Given the description of an element on the screen output the (x, y) to click on. 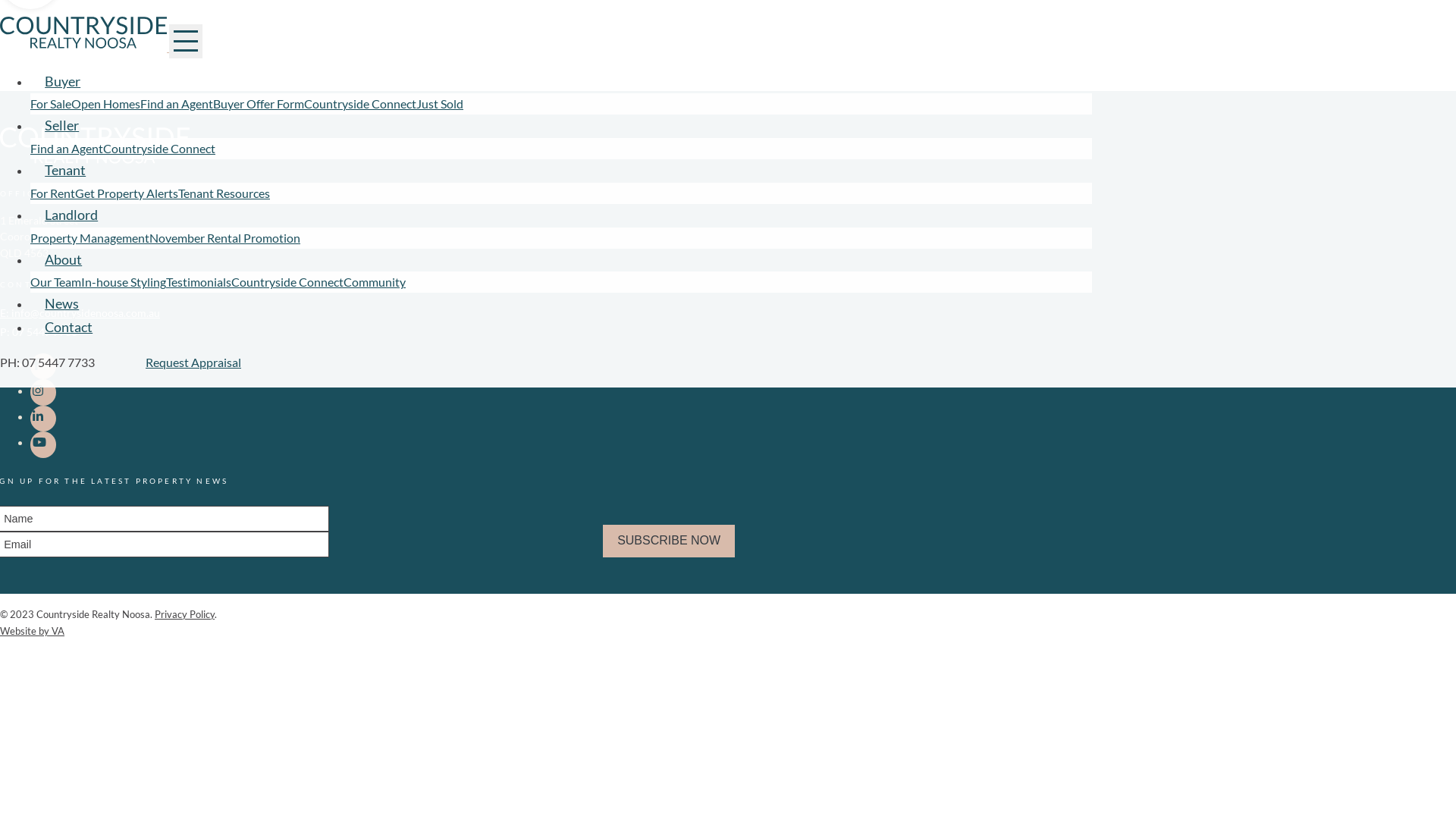
Tenant Element type: text (65, 170)
Countryside Connect Element type: text (360, 103)
November Rental Promotion Element type: text (224, 237)
logo
Countryside Realty Noosa Element type: text (94, 159)
Testimonials Element type: text (198, 281)
logo
logo-c Element type: text (84, 46)
Buyer Element type: text (62, 80)
For Rent Element type: text (52, 192)
Facebook-f Element type: text (43, 366)
Linkedin-in Element type: text (43, 418)
Buyer Offer Form Element type: text (258, 103)
Instagram Element type: text (43, 391)
Community Element type: text (374, 281)
Open Homes Element type: text (105, 103)
Our Team Element type: text (55, 281)
Countryside Connect Element type: text (159, 148)
Request Appraisal Element type: text (193, 361)
Youtube Element type: text (43, 444)
Just Sold Element type: text (439, 103)
Landlord Element type: text (71, 214)
In-house Styling Element type: text (123, 281)
Get Property Alerts Element type: text (126, 192)
Website by VA Element type: text (32, 630)
For Sale Element type: text (50, 103)
Find an Agent Element type: text (66, 148)
News Element type: text (61, 303)
Contact Element type: text (68, 327)
P: 07 5447 7733 Element type: text (38, 331)
Find an Agent Element type: text (176, 103)
Countryside Connect Element type: text (287, 281)
PH: 07 5447 7733 Element type: text (47, 361)
E: info@countrysidenoosa.com.au Element type: text (80, 312)
Property Management Element type: text (89, 237)
Tenant Resources Element type: text (223, 192)
Seller Element type: text (61, 125)
About Element type: text (63, 259)
Privacy Policy Element type: text (184, 614)
Subscribe Now Element type: text (668, 540)
